Given the description of an element on the screen output the (x, y) to click on. 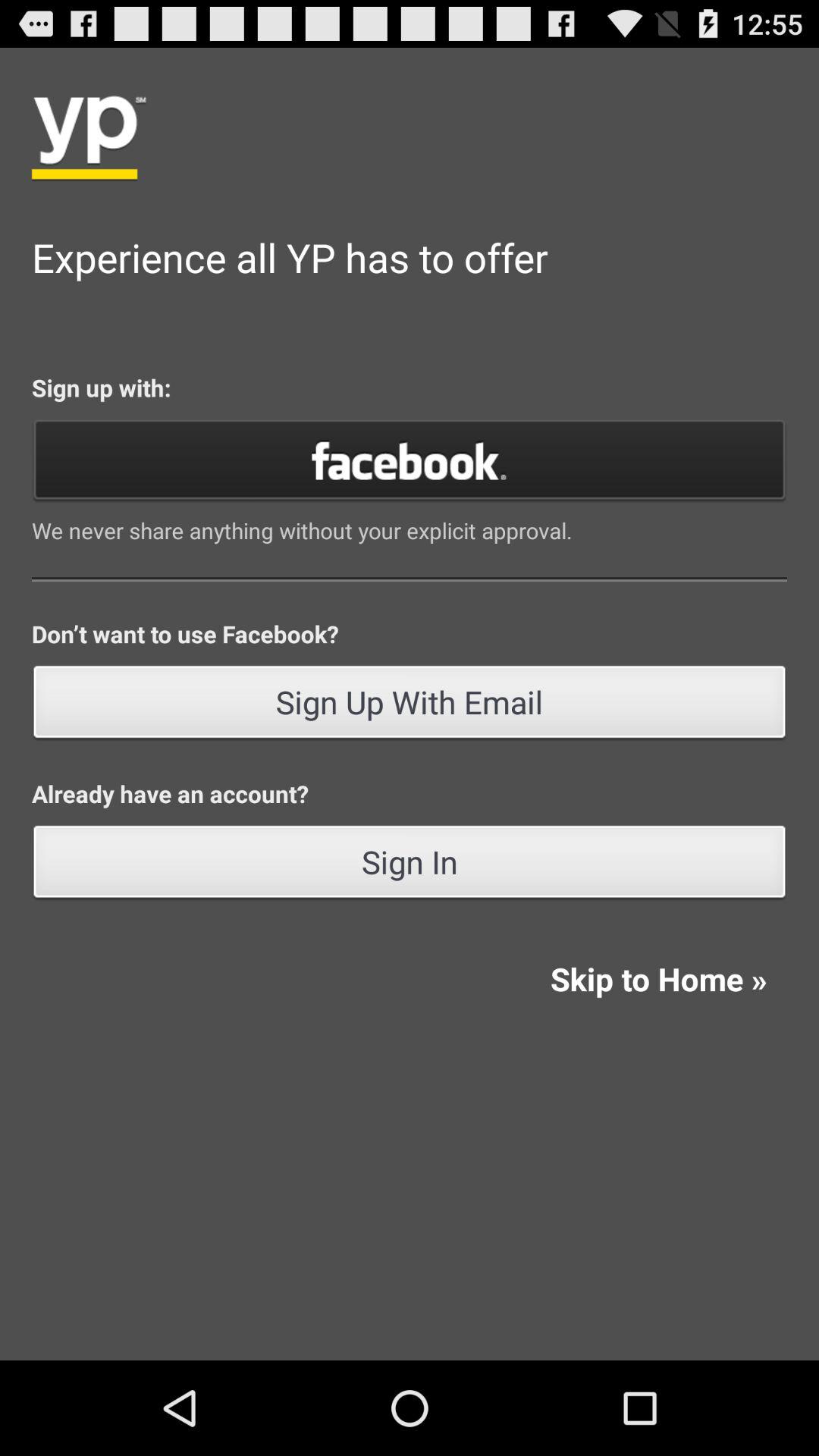
press the item below the sign up with: (409, 459)
